Given the description of an element on the screen output the (x, y) to click on. 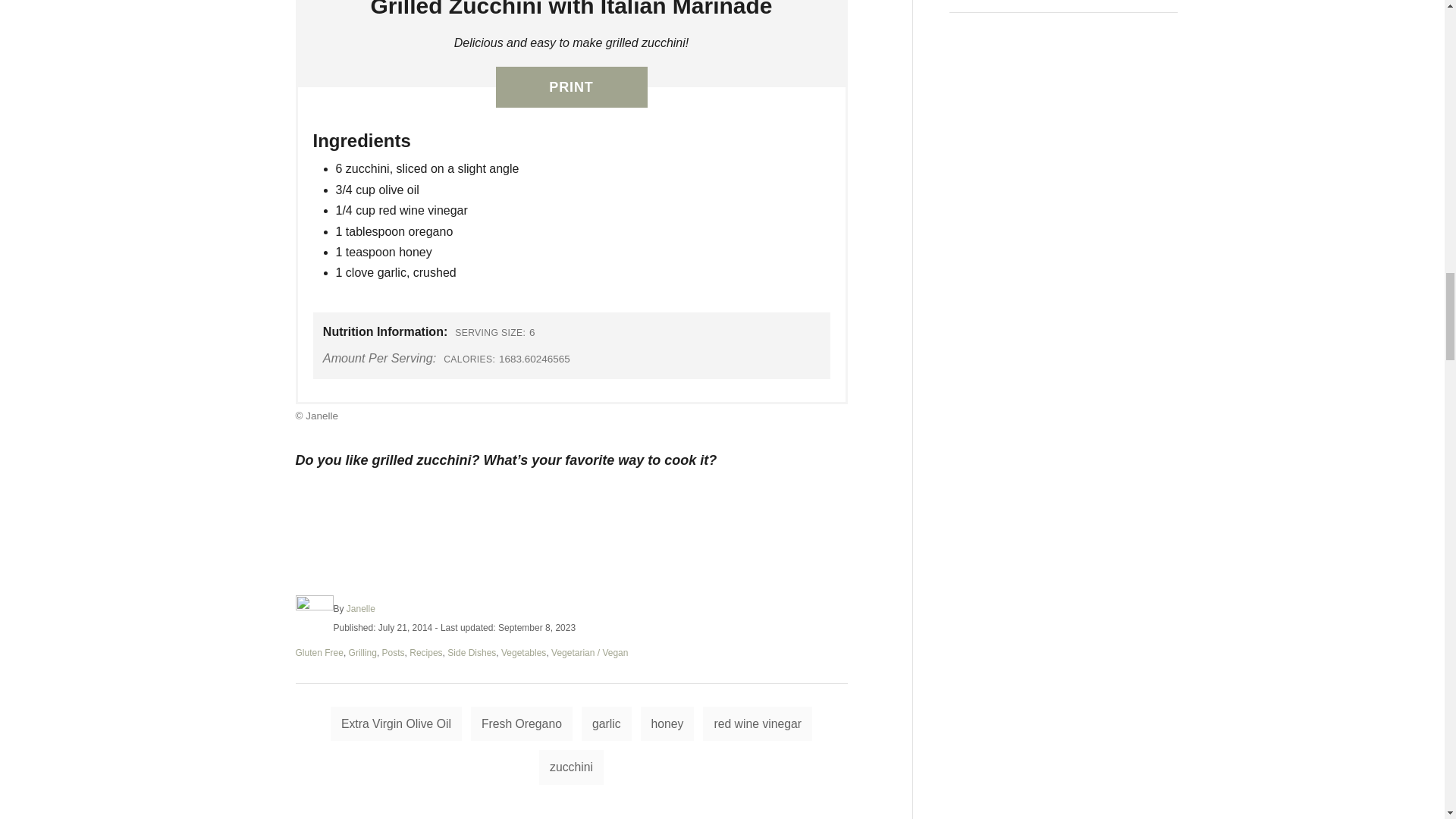
red wine vinegar (757, 724)
Grilling (363, 652)
Janelle (360, 608)
PRINT (571, 86)
Extra Virgin Olive Oil (395, 724)
garlic (605, 724)
Posts (392, 652)
Gluten Free (319, 652)
Vegetables (523, 652)
honey (667, 724)
